Given the description of an element on the screen output the (x, y) to click on. 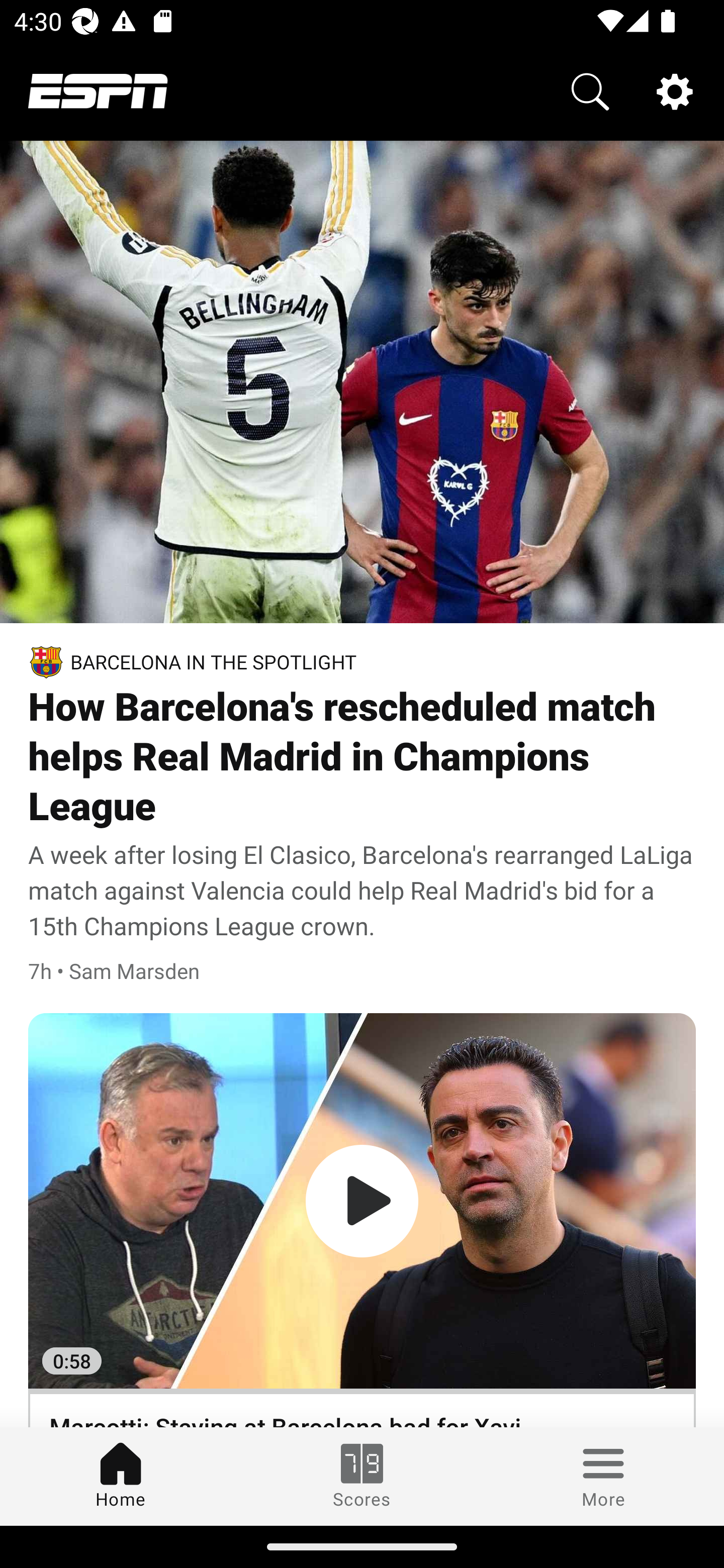
Search (590, 90)
Settings (674, 90)
 0:58 Marcotti: Staying at Barcelona bad for Xavi (361, 1219)
Scores (361, 1475)
More (603, 1475)
